Given the description of an element on the screen output the (x, y) to click on. 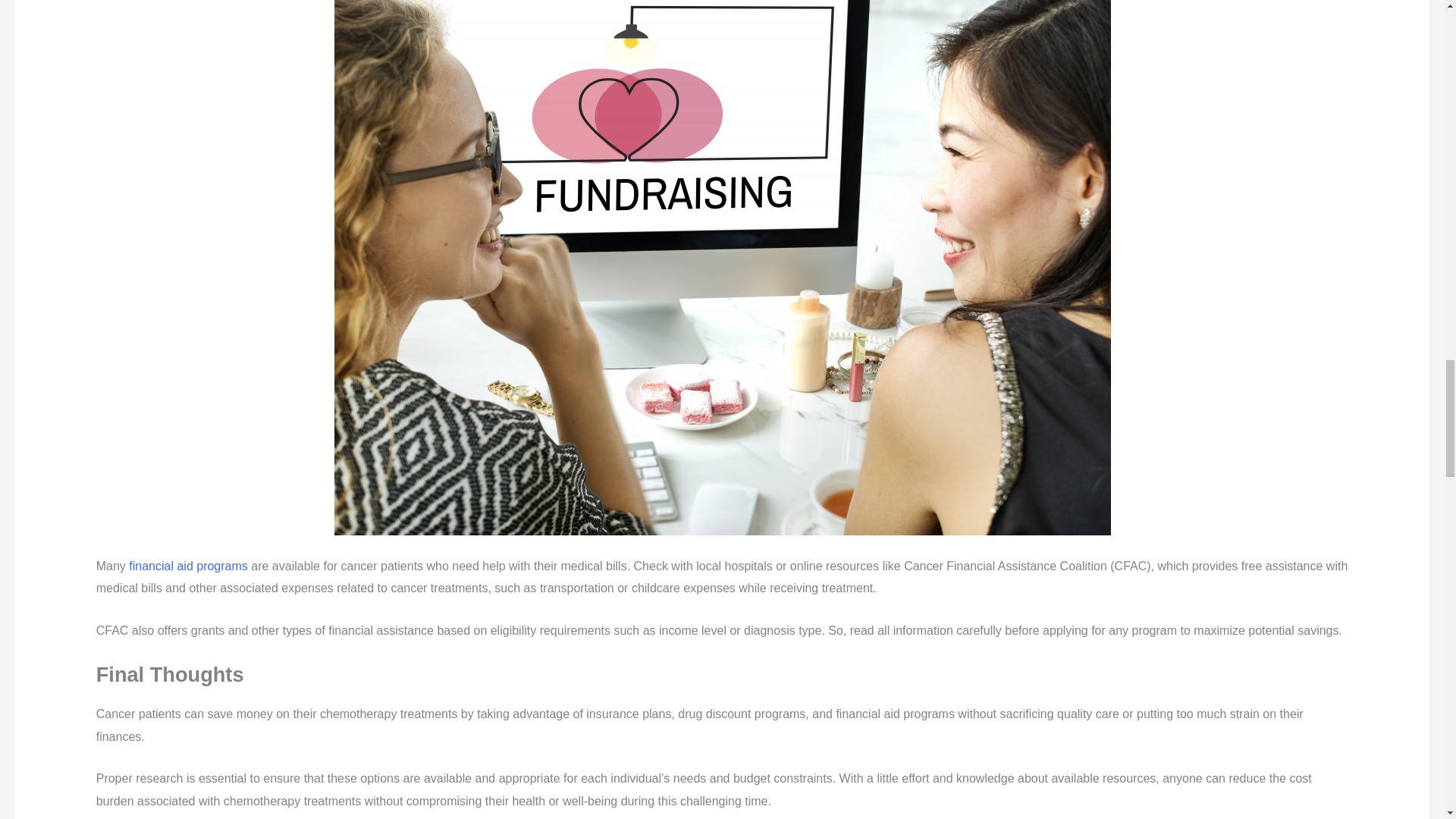
financial aid programs (188, 565)
